Given the description of an element on the screen output the (x, y) to click on. 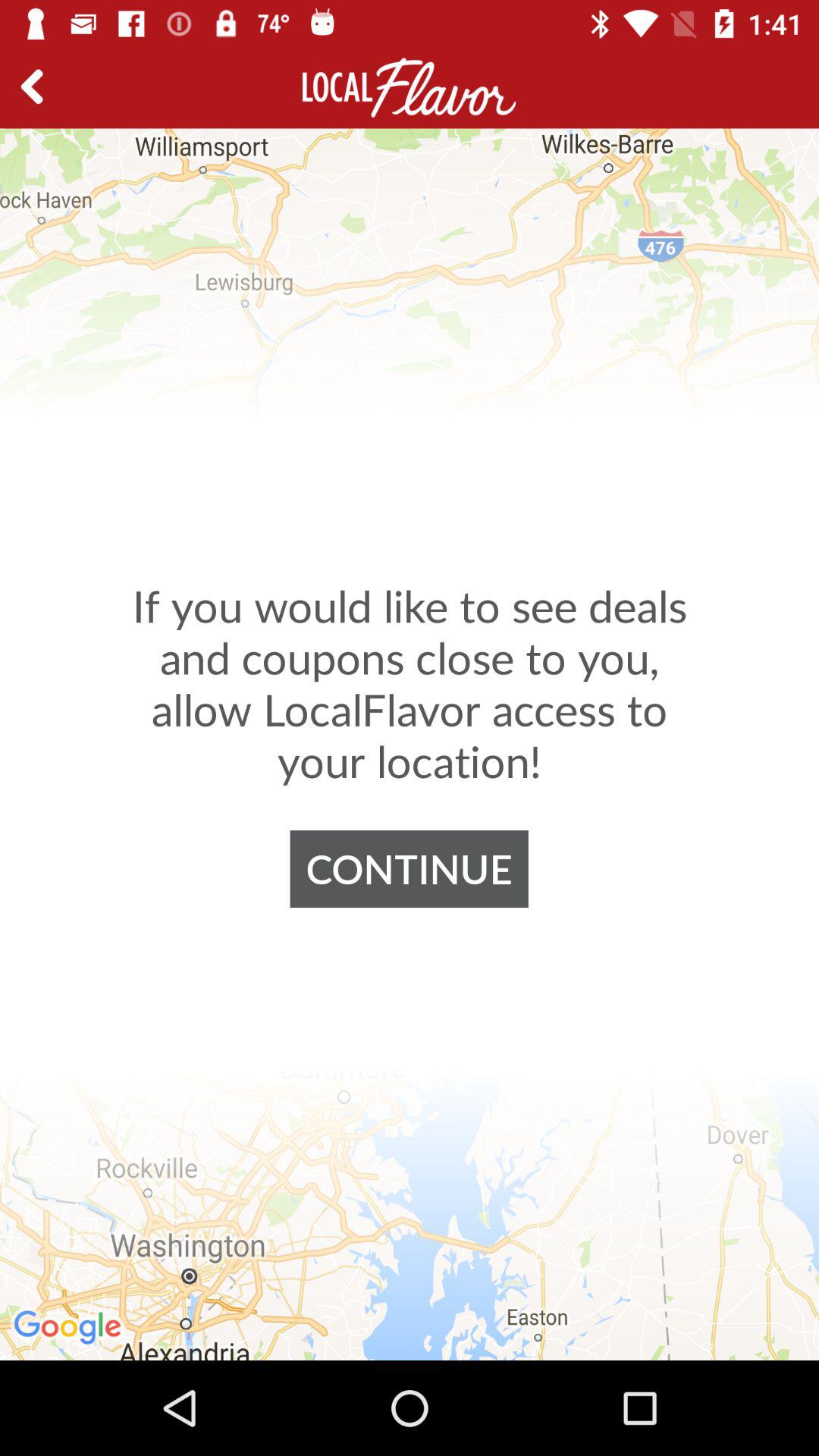
click the icon below if you would (409, 868)
